Given the description of an element on the screen output the (x, y) to click on. 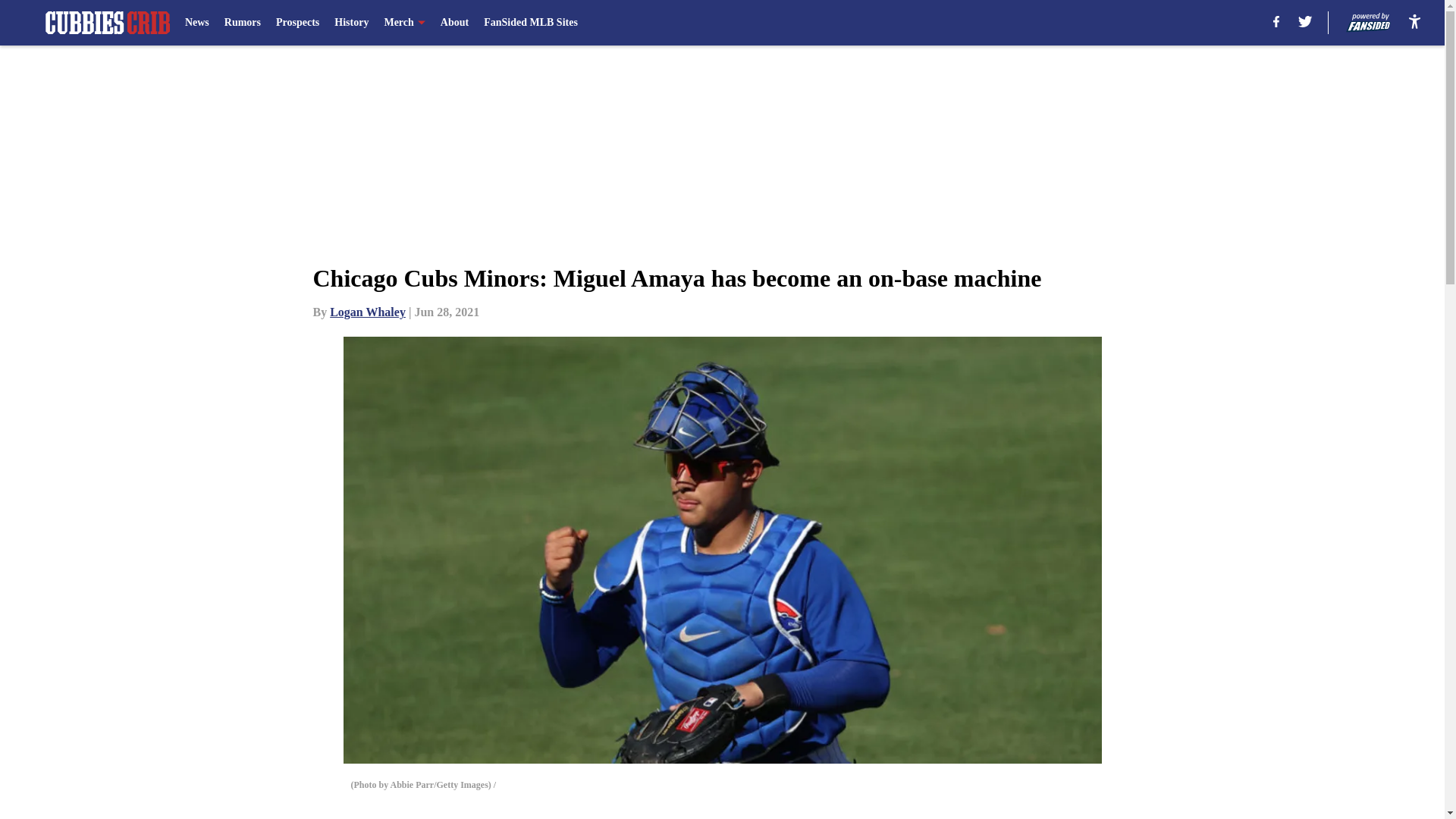
Logan Whaley (368, 311)
Prospects (297, 22)
News (196, 22)
History (351, 22)
FanSided MLB Sites (530, 22)
Rumors (242, 22)
About (454, 22)
